Given the description of an element on the screen output the (x, y) to click on. 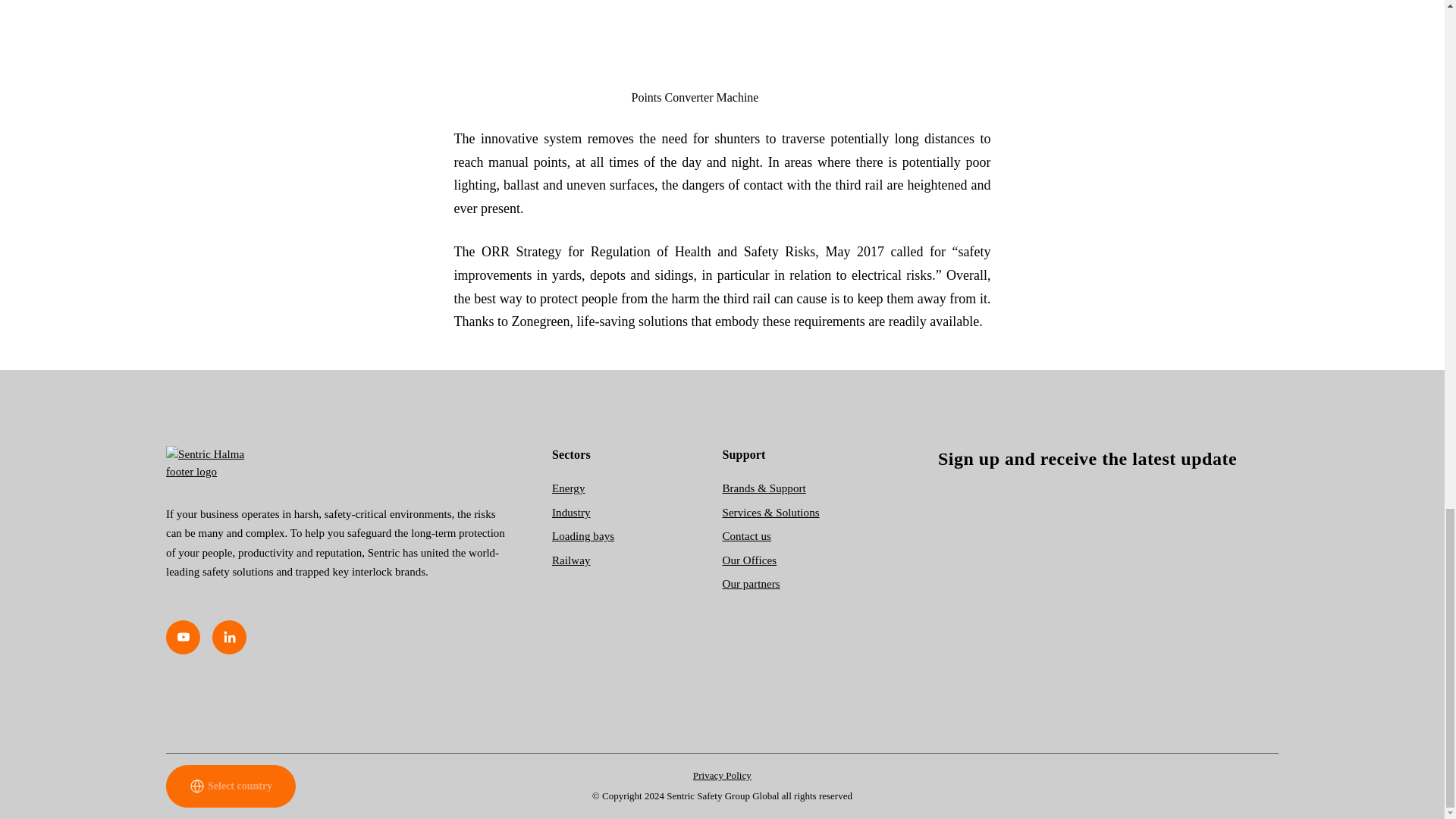
Sentric Safety Group Global (335, 462)
youtube (182, 636)
linkedin (229, 636)
Policy (722, 775)
